Given the description of an element on the screen output the (x, y) to click on. 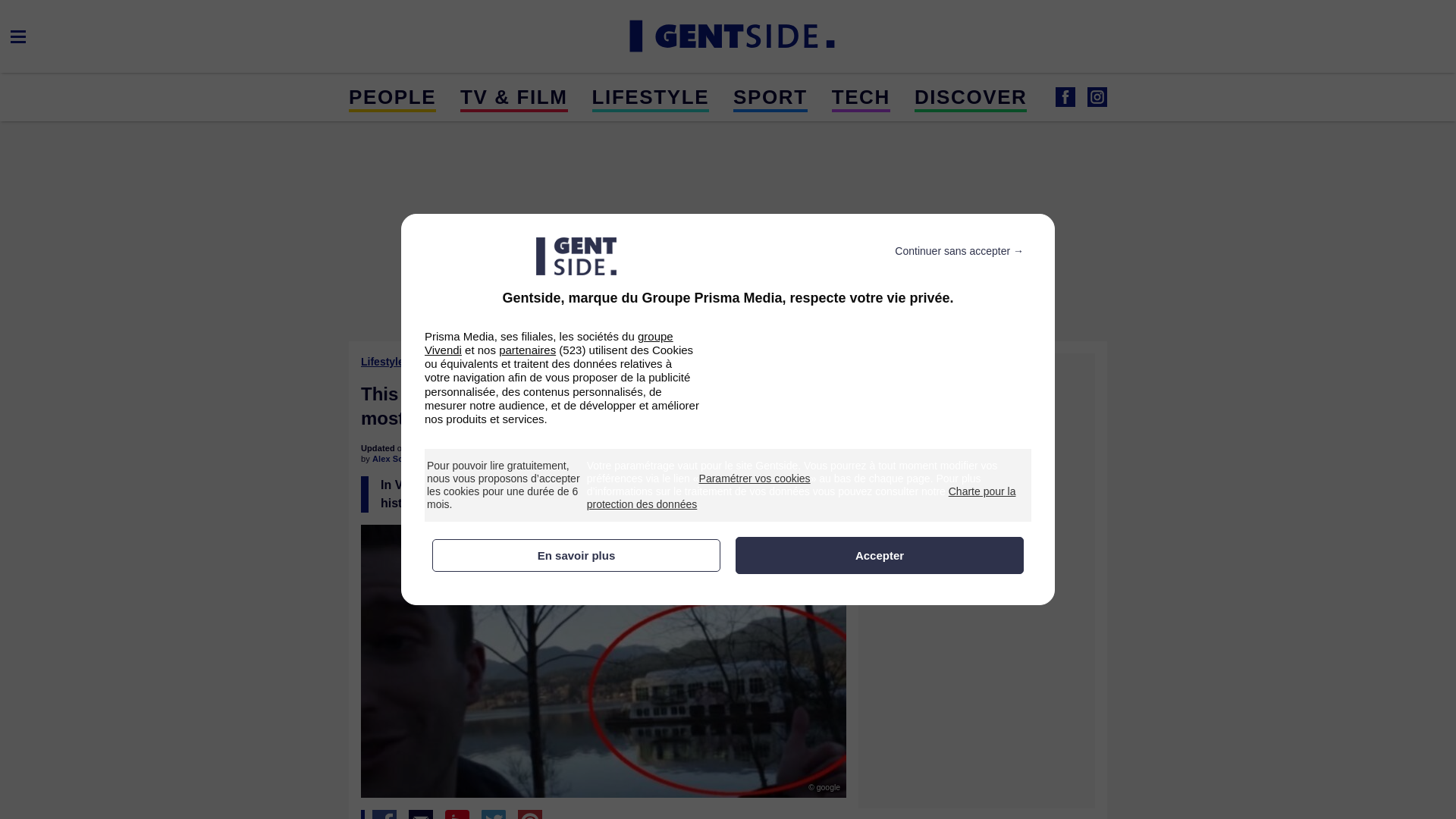
Gentside Lifestyle (1065, 96)
DISCOVER (970, 96)
Tweeter (493, 814)
Lifestyle (384, 361)
Gentside UK (1096, 96)
Share on Facebook (384, 814)
Share on Mail (420, 814)
Alex Schrute  (397, 458)
LIFESTYLE (651, 96)
SPORT (770, 96)
Share on Flipboard (456, 814)
PEOPLE (392, 96)
Pin it (529, 814)
Alex Schrute (397, 458)
Gentside UK (727, 36)
